Given the description of an element on the screen output the (x, y) to click on. 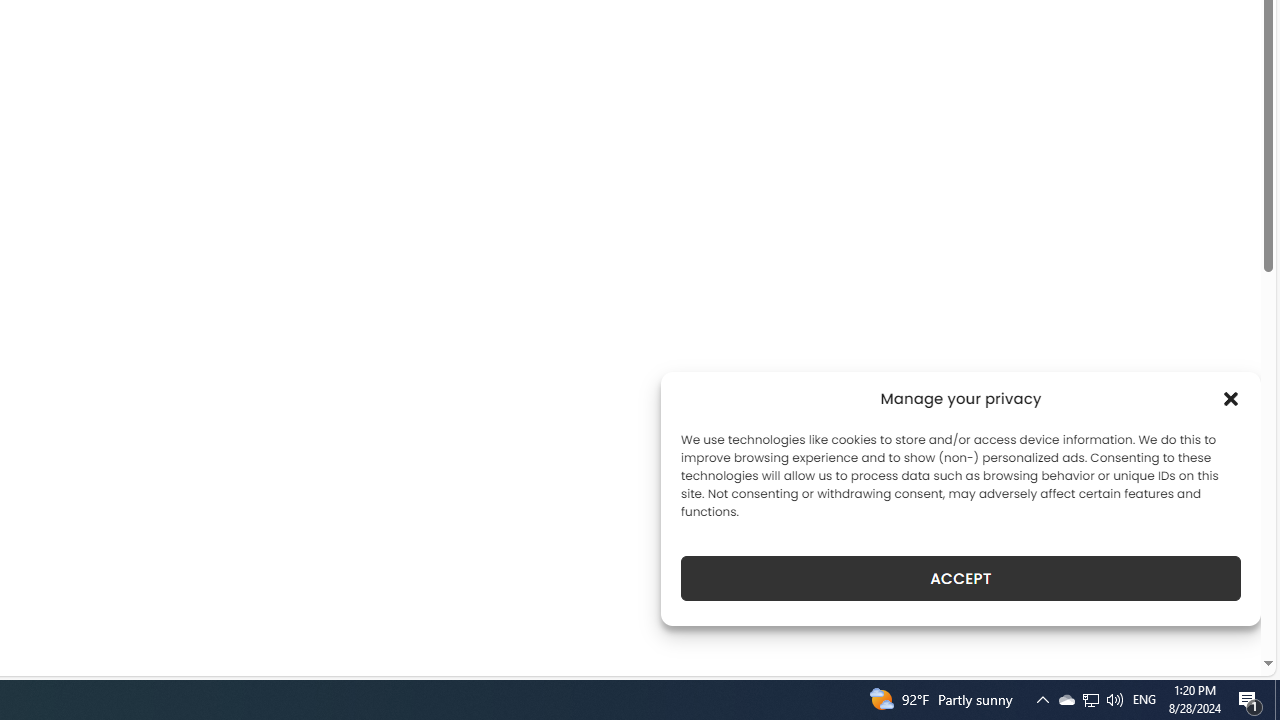
Class: cmplz-close (1231, 398)
ACCEPT (960, 578)
